Given the description of an element on the screen output the (x, y) to click on. 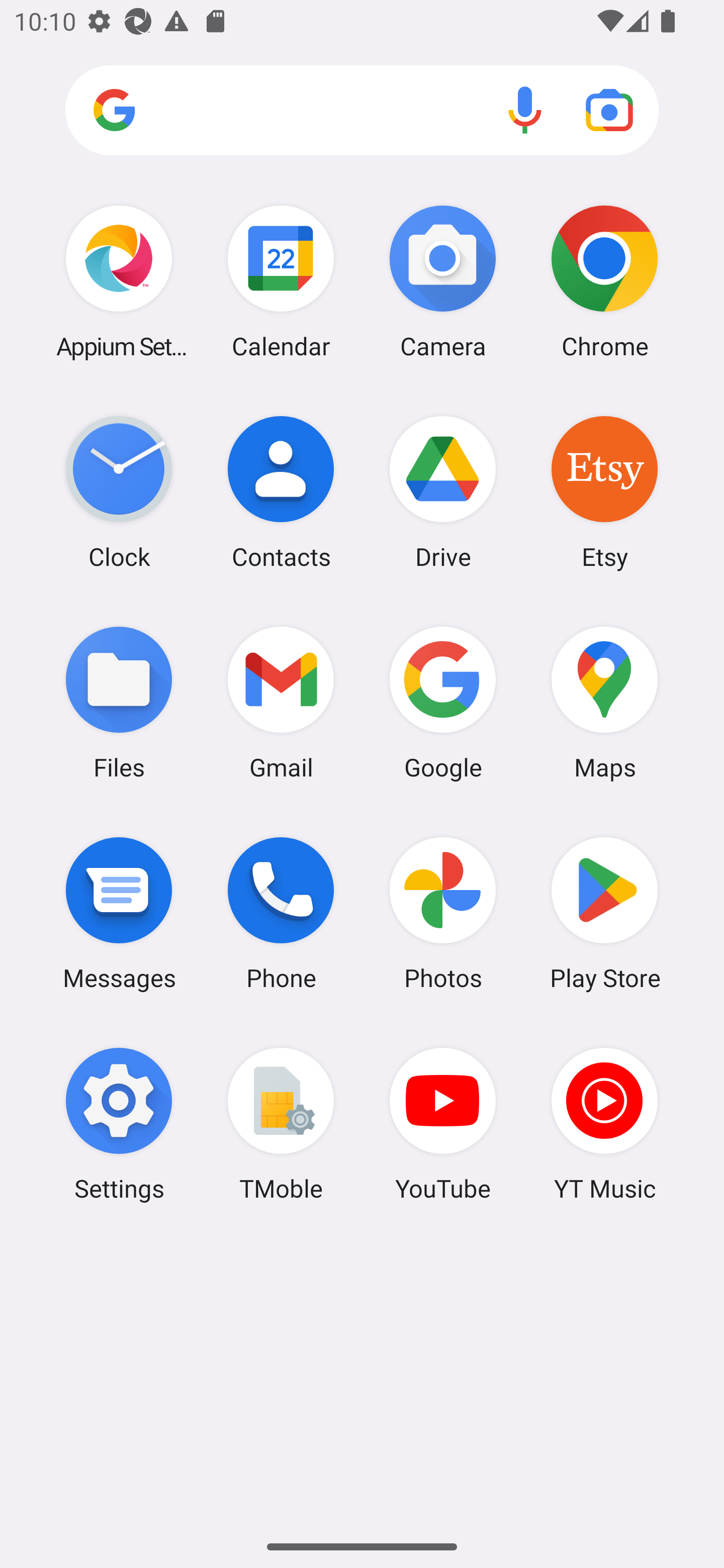
Search apps, web and more (361, 110)
Voice search (524, 109)
Google Lens (608, 109)
Appium Settings (118, 281)
Calendar (280, 281)
Camera (443, 281)
Chrome (604, 281)
Clock (118, 492)
Contacts (280, 492)
Drive (443, 492)
Etsy (604, 492)
Files (118, 702)
Gmail (280, 702)
Google (443, 702)
Maps (604, 702)
Messages (118, 913)
Phone (280, 913)
Photos (443, 913)
Play Store (604, 913)
Settings (118, 1124)
TMoble (280, 1124)
YouTube (443, 1124)
YT Music (604, 1124)
